Given the description of an element on the screen output the (x, y) to click on. 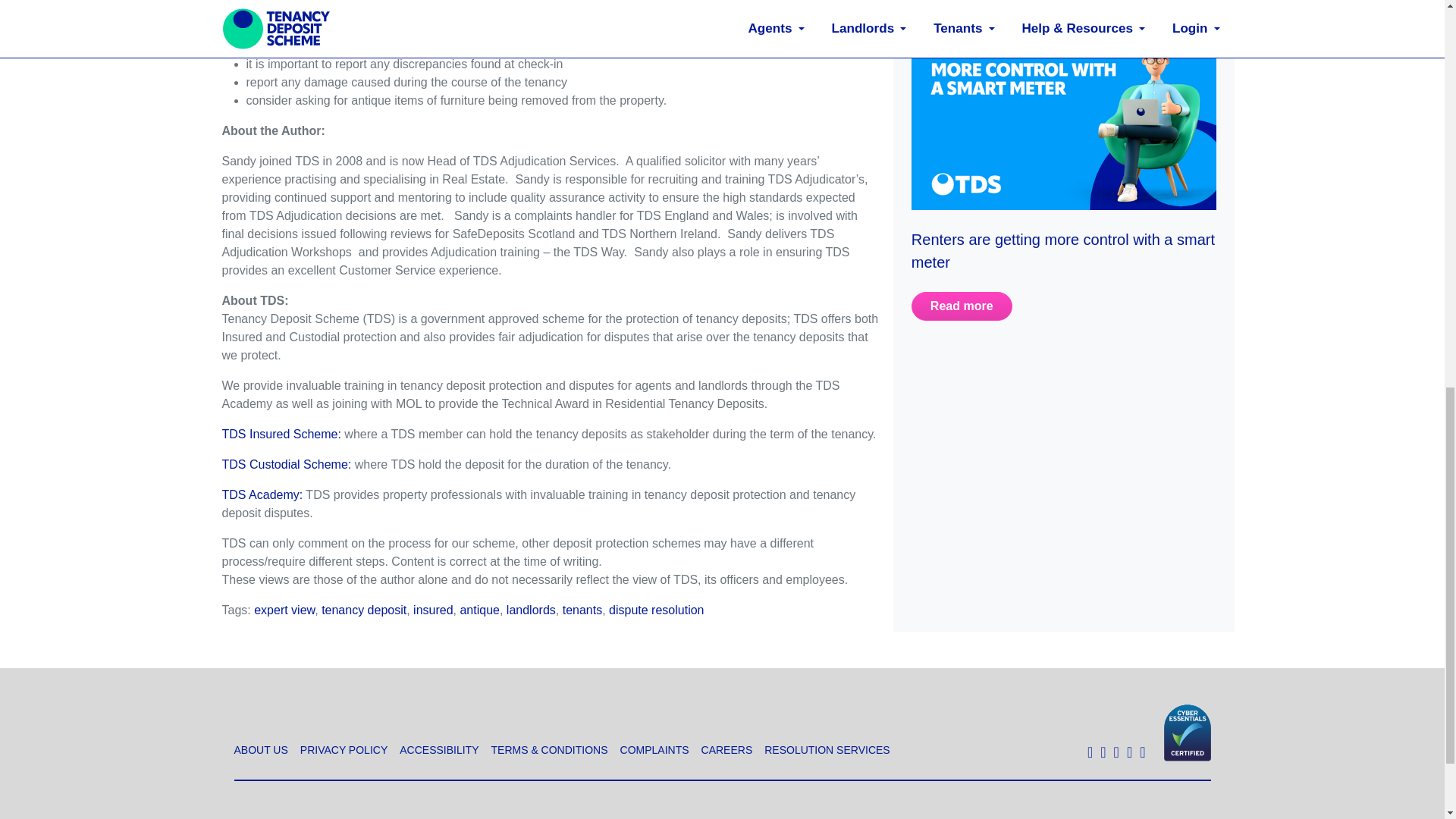
landlords (531, 609)
insured (432, 609)
tenants (582, 609)
antique (479, 609)
dispute resolution (655, 609)
tenancy deposit (363, 609)
TDS Academy: (261, 494)
expert view (283, 609)
TDS Insured Scheme: (280, 433)
TDS Custodial Scheme: (285, 463)
